Given the description of an element on the screen output the (x, y) to click on. 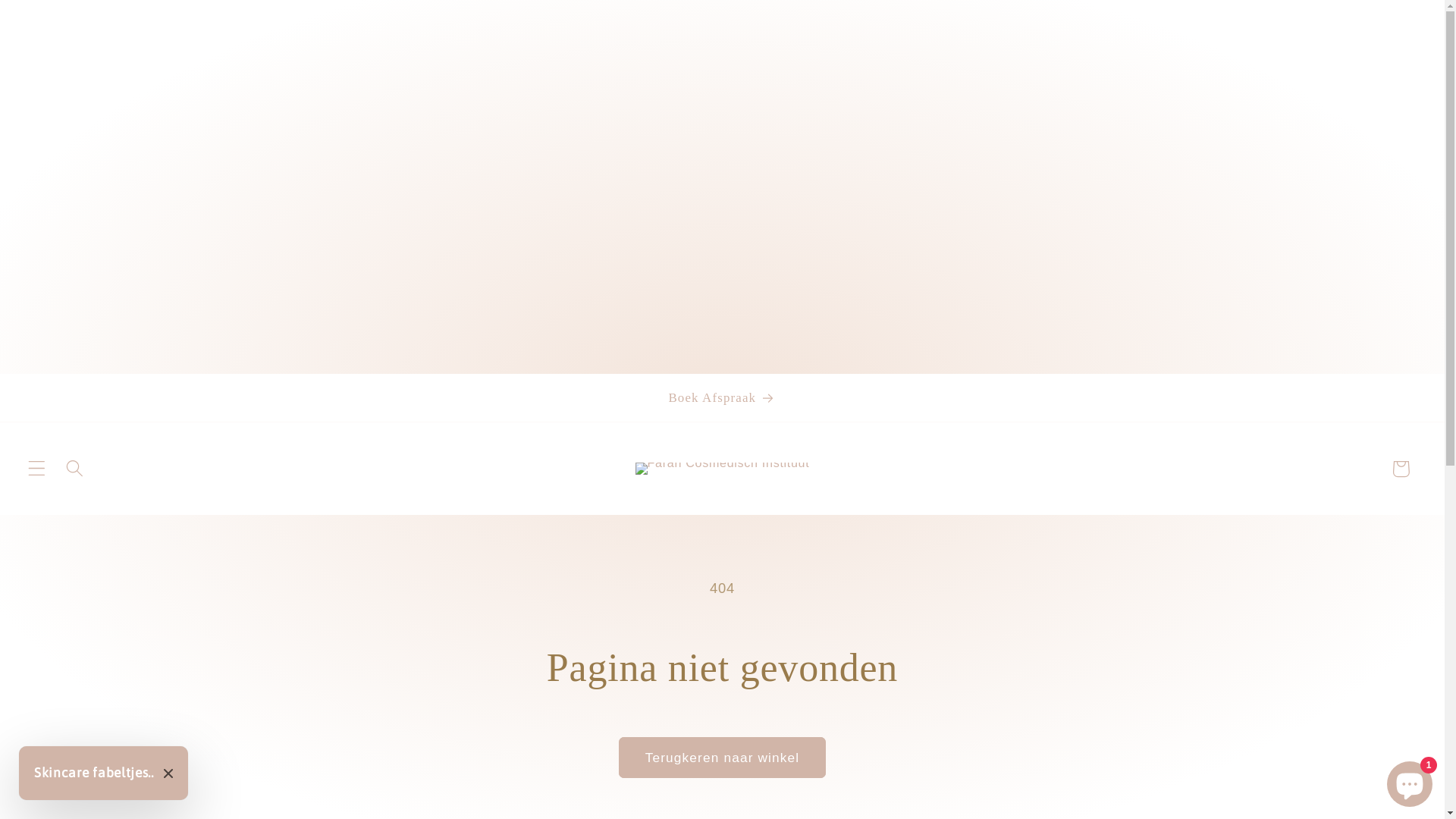
Winkelwagen Element type: text (1400, 468)
Boek Afspraak Element type: text (721, 396)
Onlinewinkel-chat van Shopify Element type: hover (1409, 780)
Terugkeren naar winkel Element type: text (721, 757)
